Given the description of an element on the screen output the (x, y) to click on. 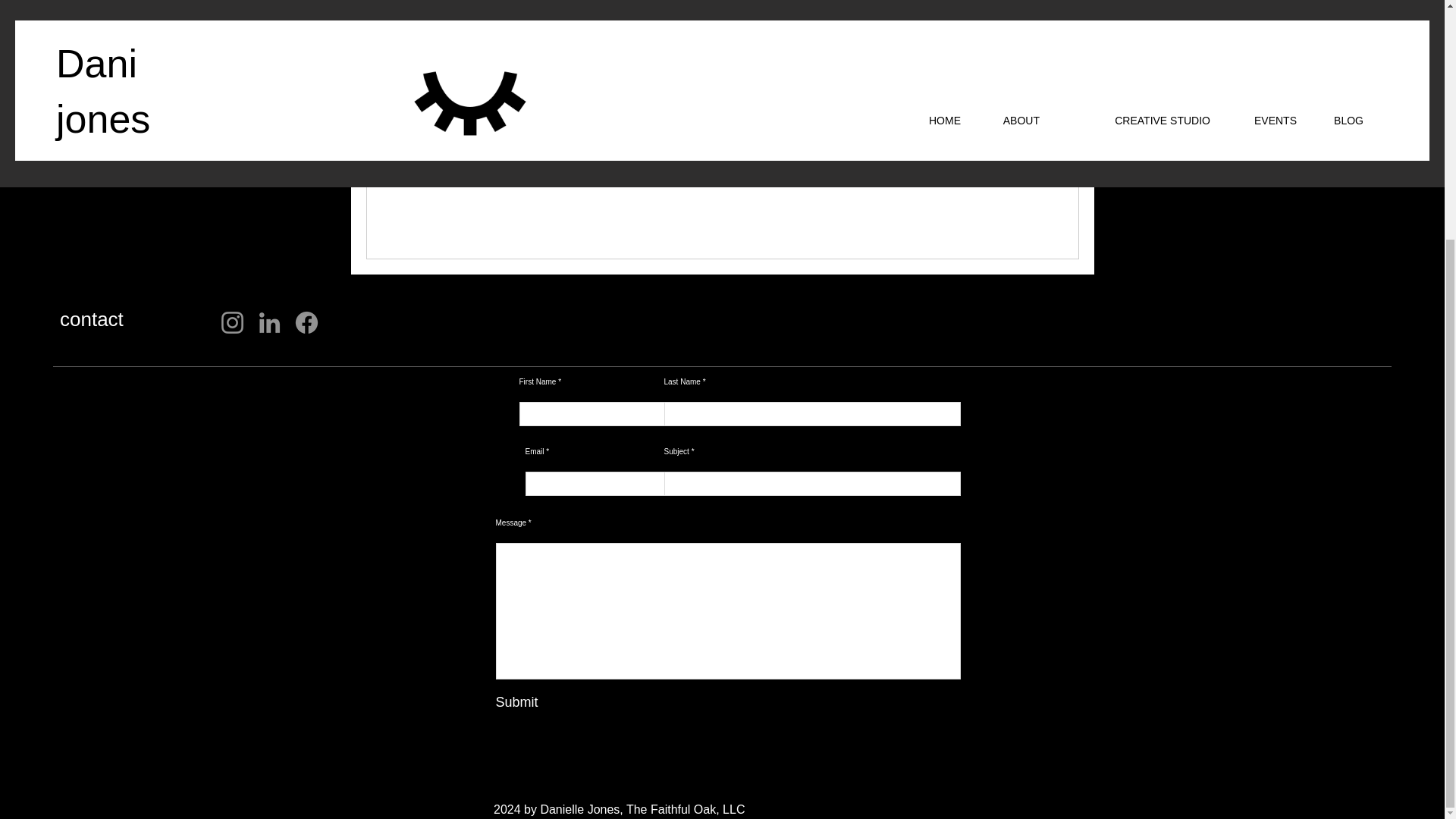
See More Posts (722, 138)
Submit (598, 702)
